Given the description of an element on the screen output the (x, y) to click on. 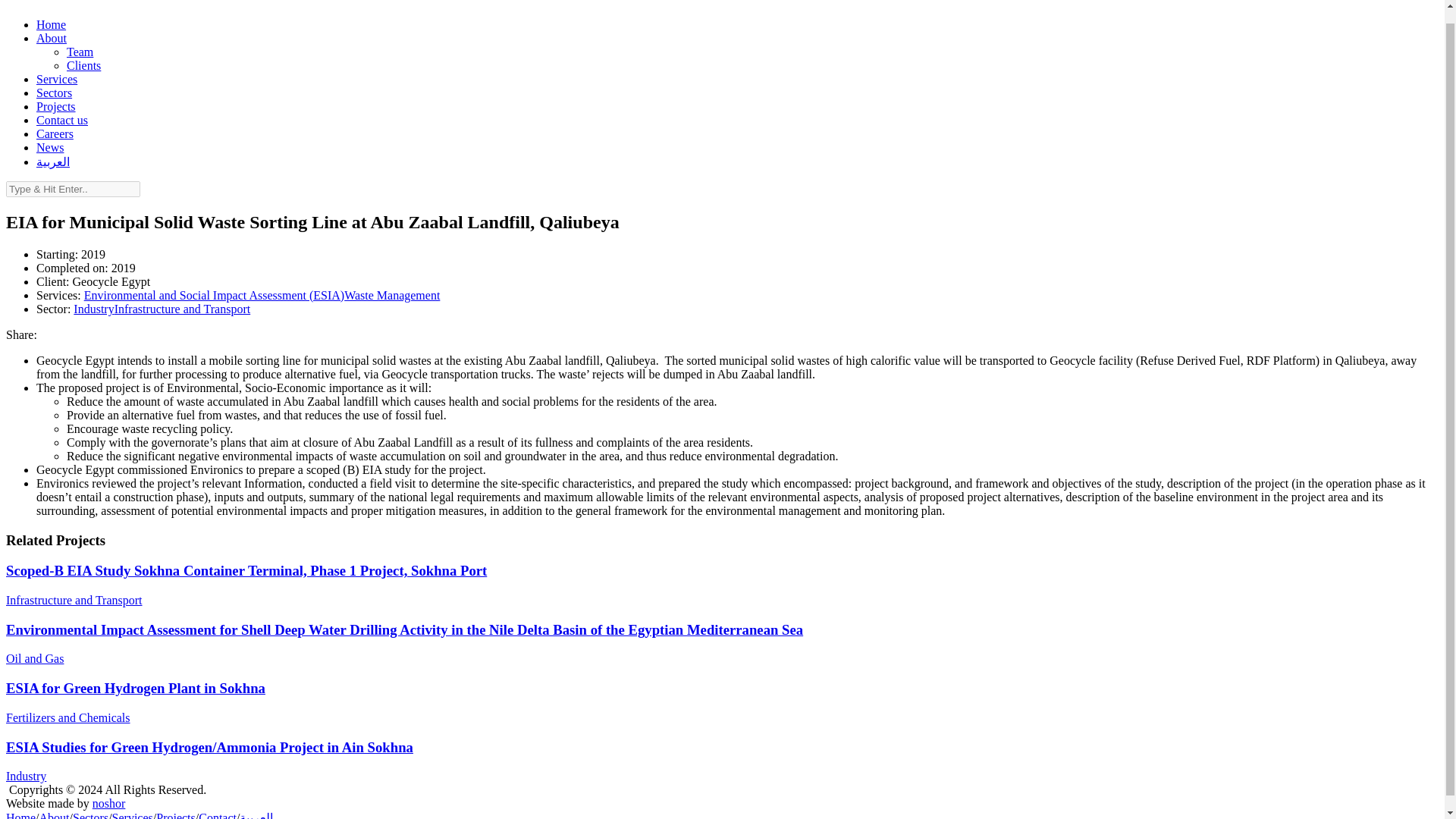
Infrastructure and Transport (73, 599)
Industry (25, 775)
Enter search text (72, 188)
Industry (93, 308)
Oil and Gas (34, 658)
Fertilizers and Chemicals (68, 717)
noshor (109, 802)
Waste Management (391, 295)
Infrastructure and Transport (182, 308)
